Given the description of an element on the screen output the (x, y) to click on. 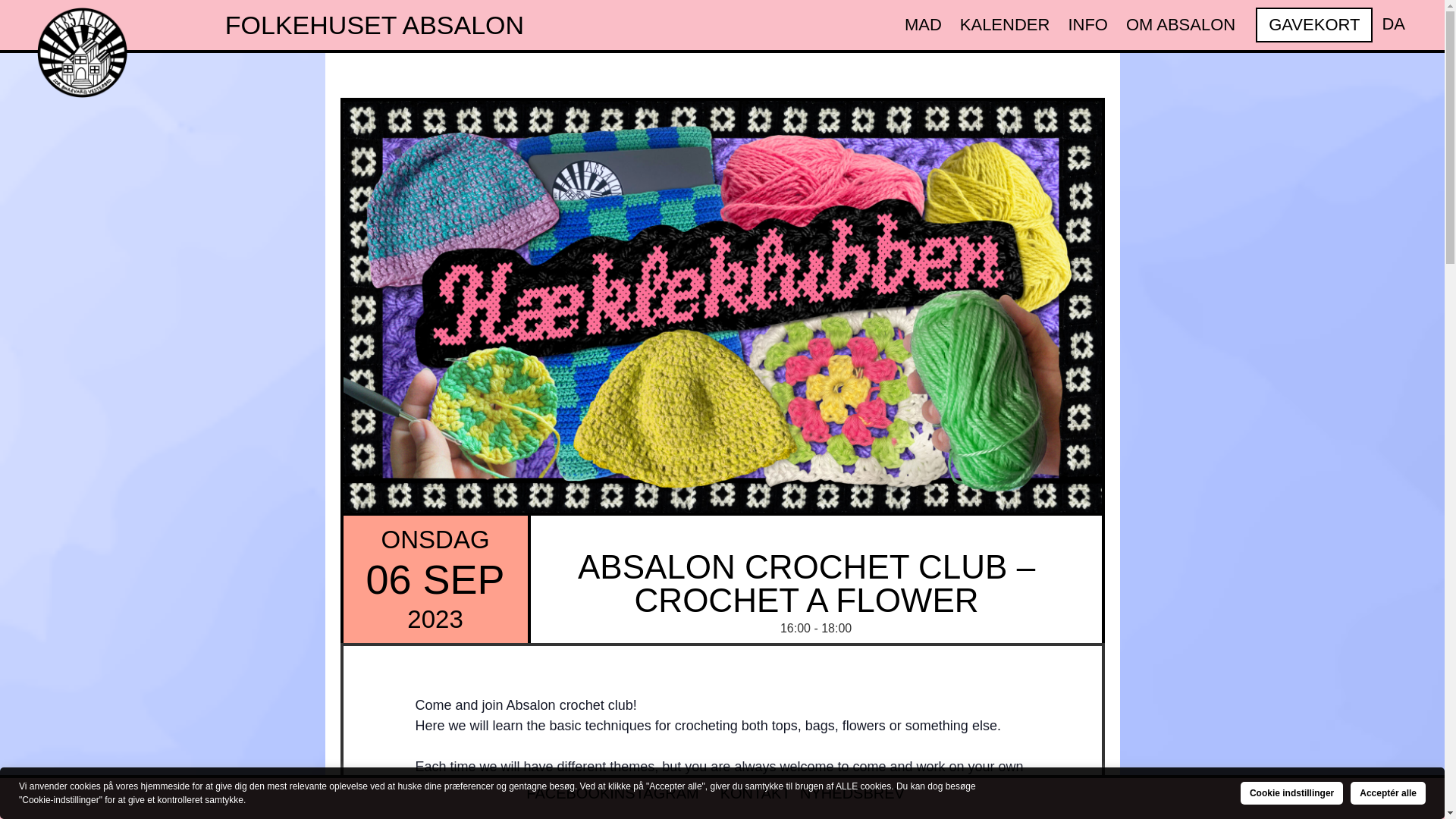
DA (1389, 24)
KALENDER (1004, 24)
DA (1389, 24)
MAD (922, 24)
FOLKEHUSET ABSALON (374, 24)
GAVEKORT (1314, 24)
OM ABSALON (1180, 24)
INFO (1087, 24)
